Given the description of an element on the screen output the (x, y) to click on. 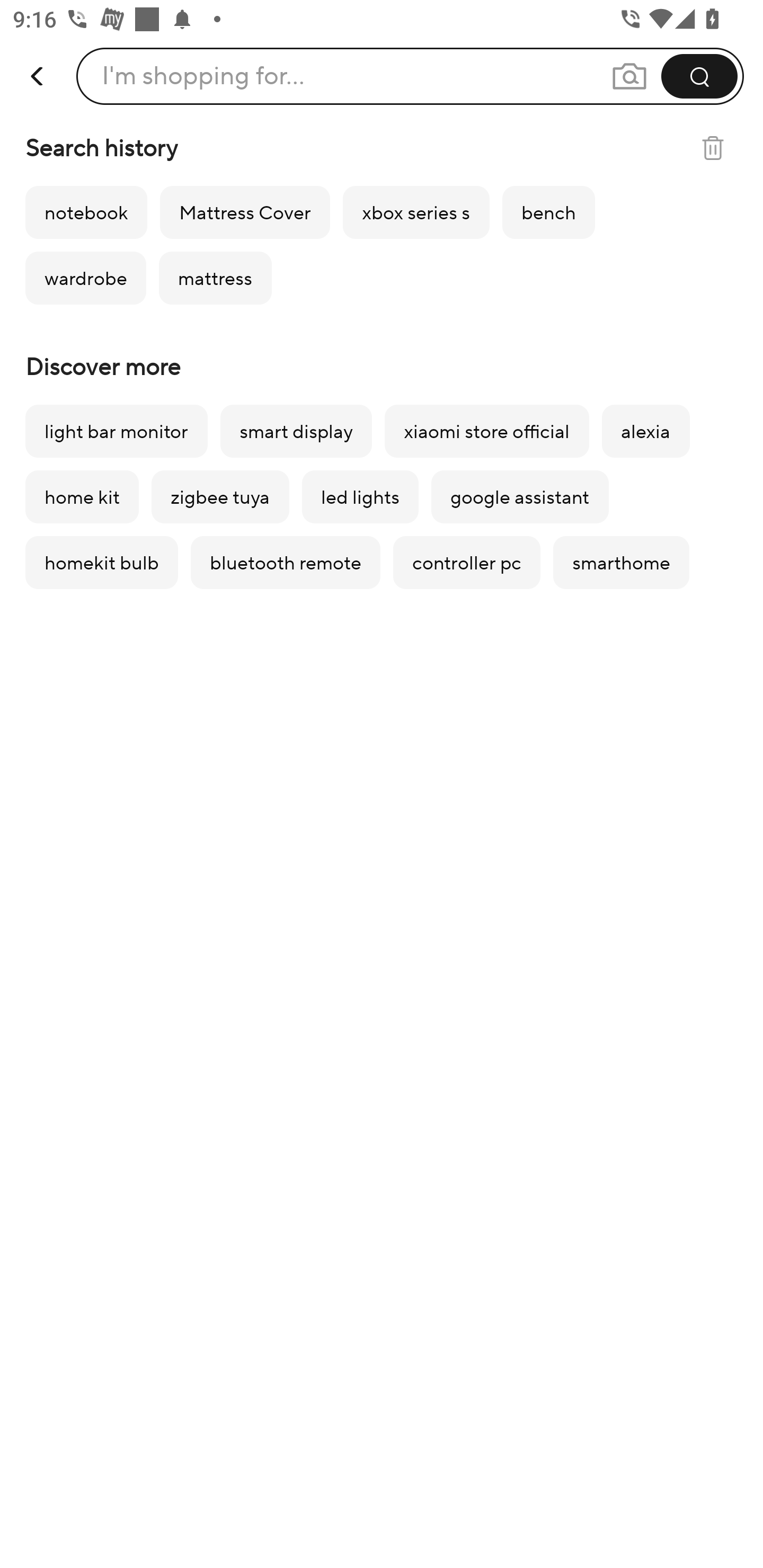
I'm shopping for… (409, 76)
notebook (86, 212)
Mattress Cover (245, 212)
xbox series s (415, 212)
bench (548, 212)
wardrobe (85, 277)
mattress (214, 277)
light bar monitor (116, 430)
smart display (296, 430)
xiaomi store official (486, 430)
alexia (645, 430)
home kit (81, 496)
zigbee tuya (220, 496)
led lights (360, 496)
google assistant (519, 496)
homekit bulb (101, 562)
bluetooth remote (285, 562)
controller pc (466, 562)
smarthome (620, 562)
